Given the description of an element on the screen output the (x, y) to click on. 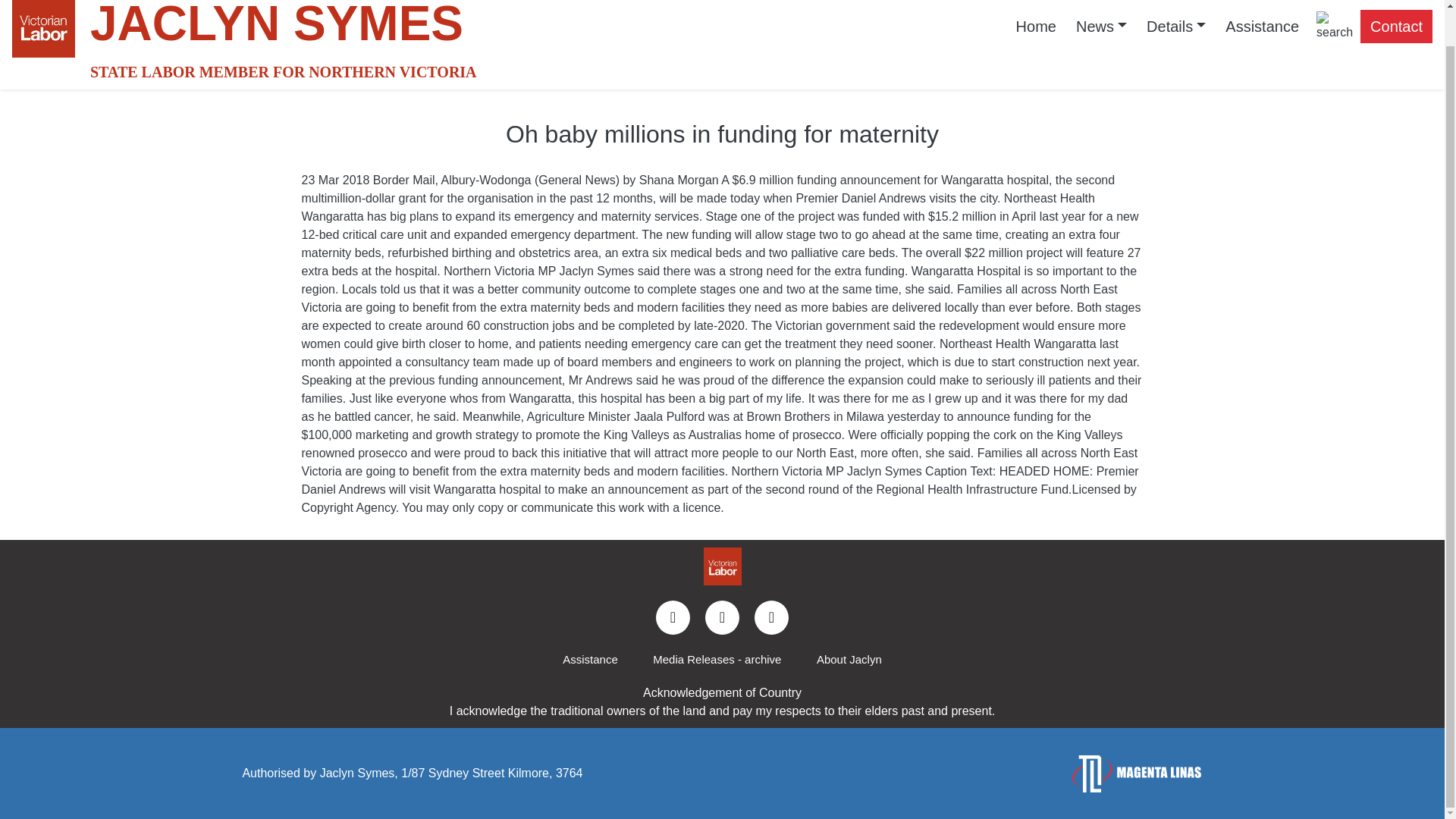
Home (1035, 26)
Details (1176, 26)
Contact (1395, 26)
Assistance (1261, 26)
About Jaclyn (848, 659)
News (1101, 26)
Media Releases - archive (716, 659)
Assistance (590, 659)
